Given the description of an element on the screen output the (x, y) to click on. 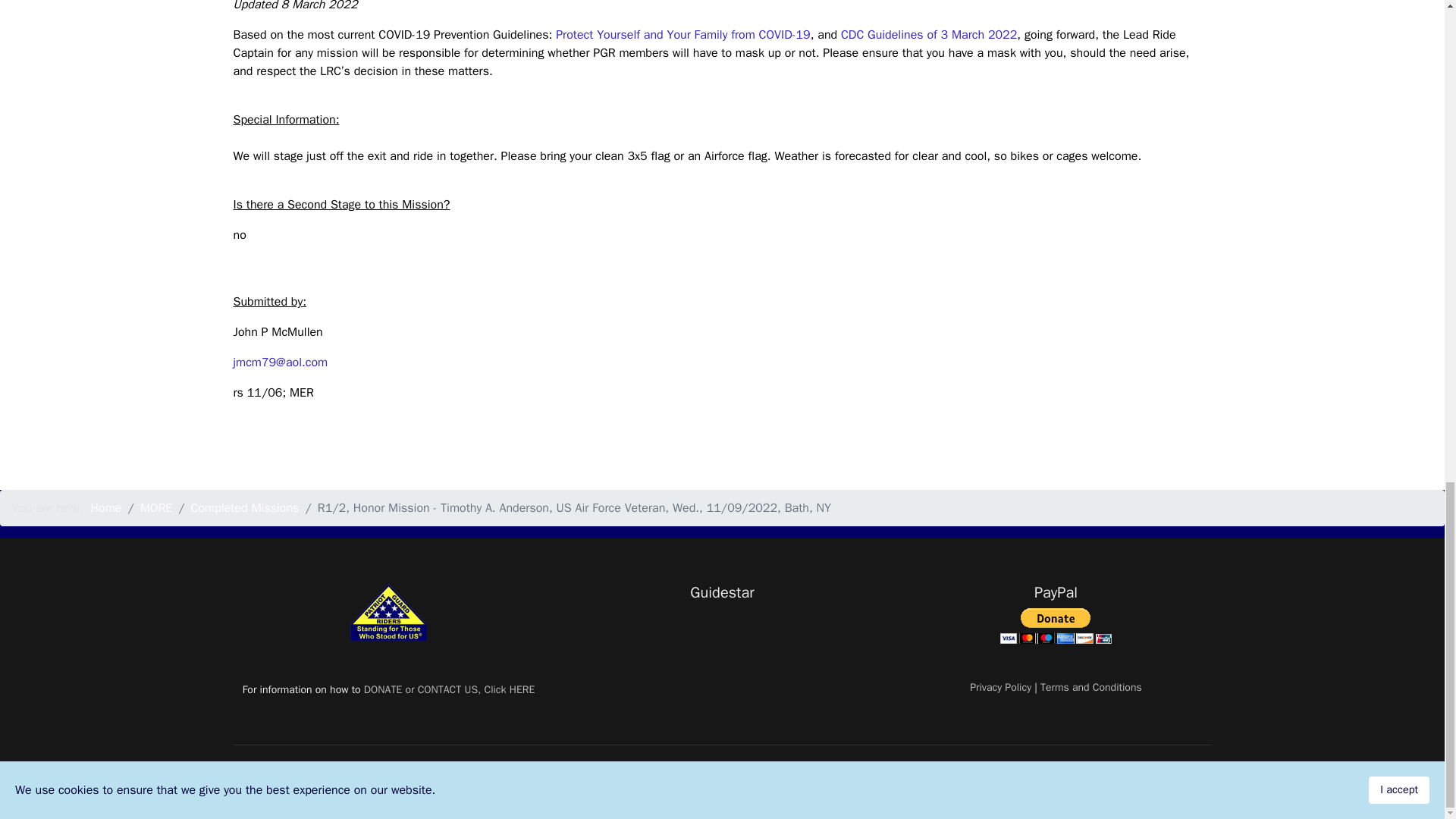
Privacy Policy (999, 686)
Protect Yourself and Your Family from COVID-19 (683, 34)
Terms and Conditions (1091, 686)
PayPal - The safer, easier way to pay online! (1056, 625)
